Given the description of an element on the screen output the (x, y) to click on. 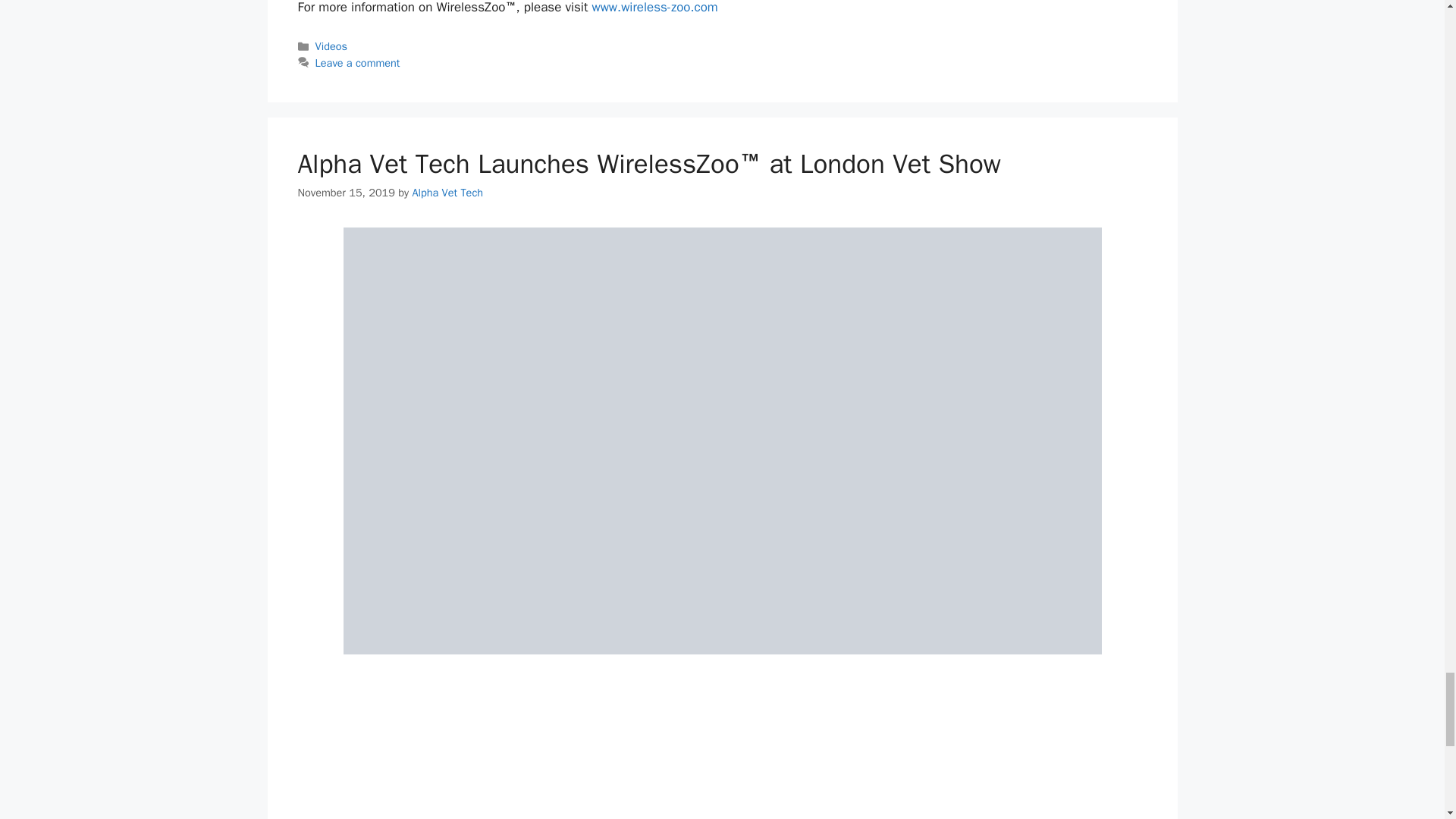
View all posts by Alpha Vet Tech (447, 192)
